Given the description of an element on the screen output the (x, y) to click on. 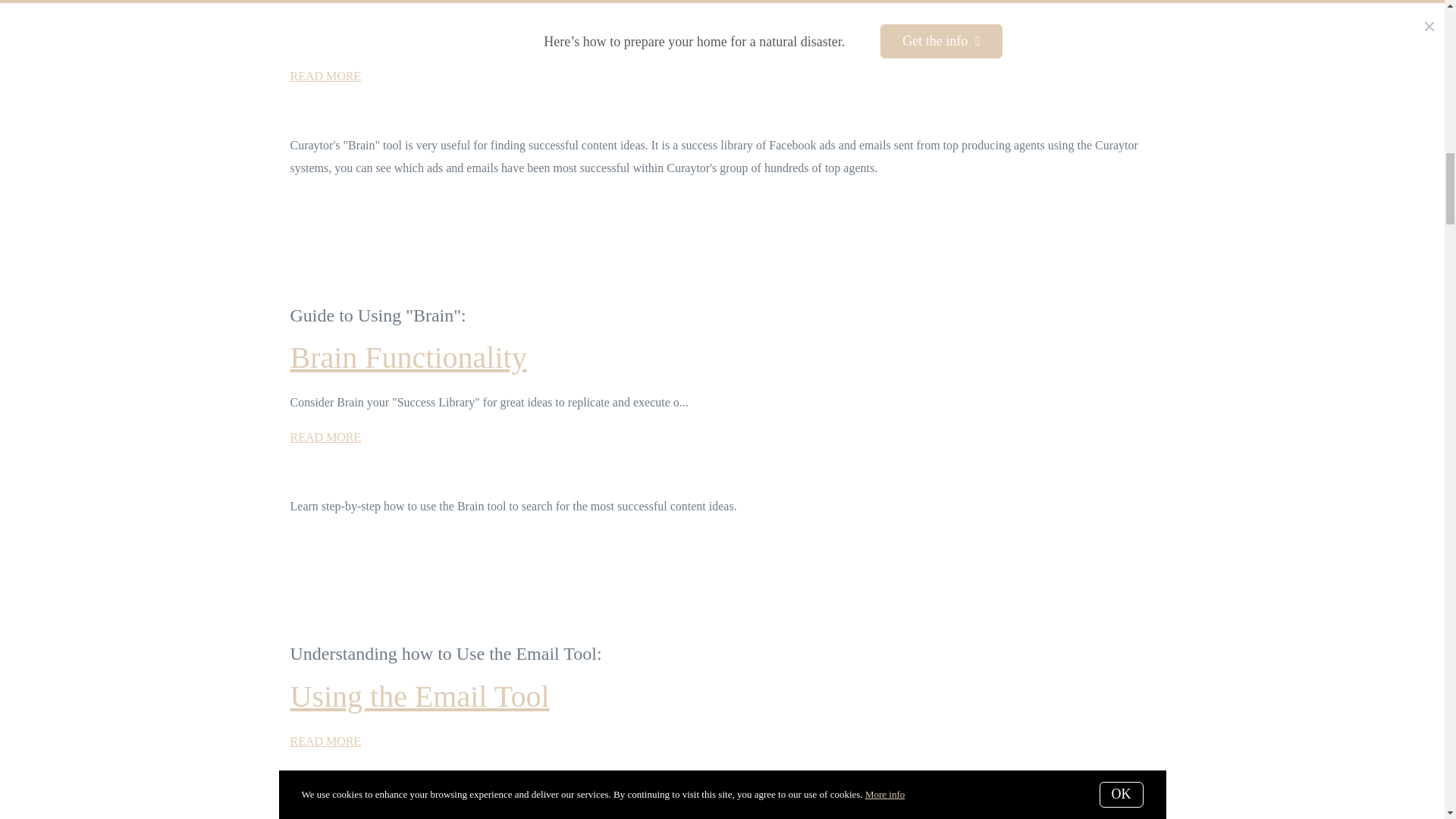
Brain Functionality (325, 436)
Understanding Smart View (325, 740)
Brain Functionality (407, 357)
How do I navigate through the Curaytor platform? (325, 75)
Understanding Smart View (418, 696)
How do I navigate through the Curaytor platform? (380, 31)
